Given the description of an element on the screen output the (x, y) to click on. 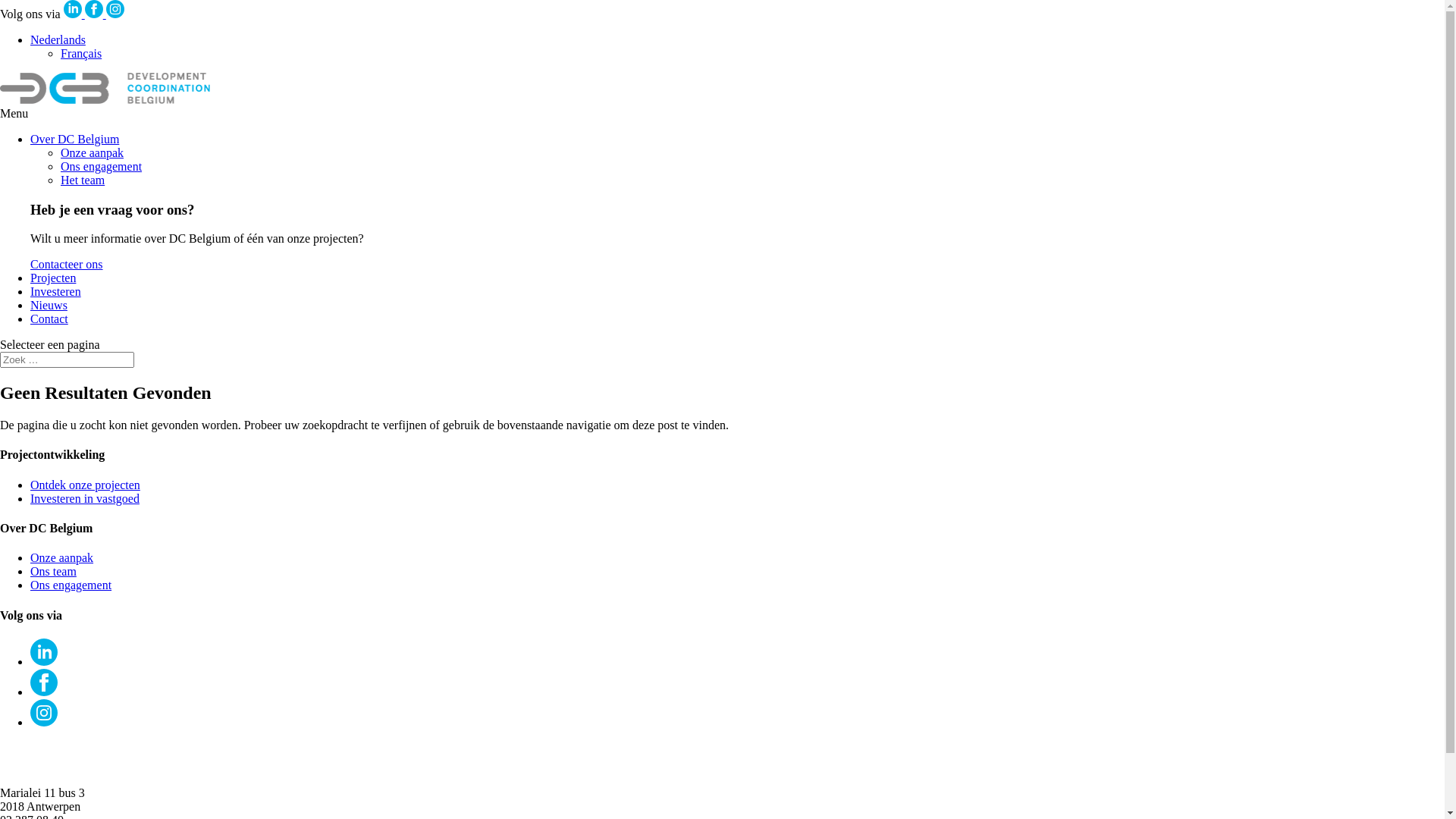
Instagram Element type: hover (43, 712)
LinkedIn Element type: hover (43, 651)
Ons team Element type: text (53, 570)
Ontdek onze projecten Element type: text (85, 484)
Facebook Element type: hover (93, 9)
Over DC Belgium Element type: text (74, 138)
Onze aanpak Element type: text (91, 152)
Facebook Element type: hover (43, 682)
Projecten Element type: text (52, 277)
Contact Element type: text (49, 318)
Nederlands Element type: text (57, 39)
Instagram Element type: hover (43, 721)
DC Belgium LinkedIn Element type: hover (73, 13)
Investeren in vastgoed Element type: text (84, 498)
Zoek naar: Element type: hover (67, 359)
Ons engagement Element type: text (70, 584)
Investeren Element type: text (55, 291)
Instagram Element type: hover (115, 9)
LinkedIn Element type: hover (43, 661)
Onze aanpak Element type: text (61, 557)
Nieuws Element type: text (48, 304)
Facebook Element type: hover (43, 691)
DC Belgium Facebook Element type: hover (95, 13)
Ons engagement Element type: text (100, 166)
LinkedIn Element type: hover (72, 9)
Het team Element type: text (82, 179)
Contacteer ons Element type: text (66, 263)
DC Belgium Instagram Element type: hover (115, 13)
